Given the description of an element on the screen output the (x, y) to click on. 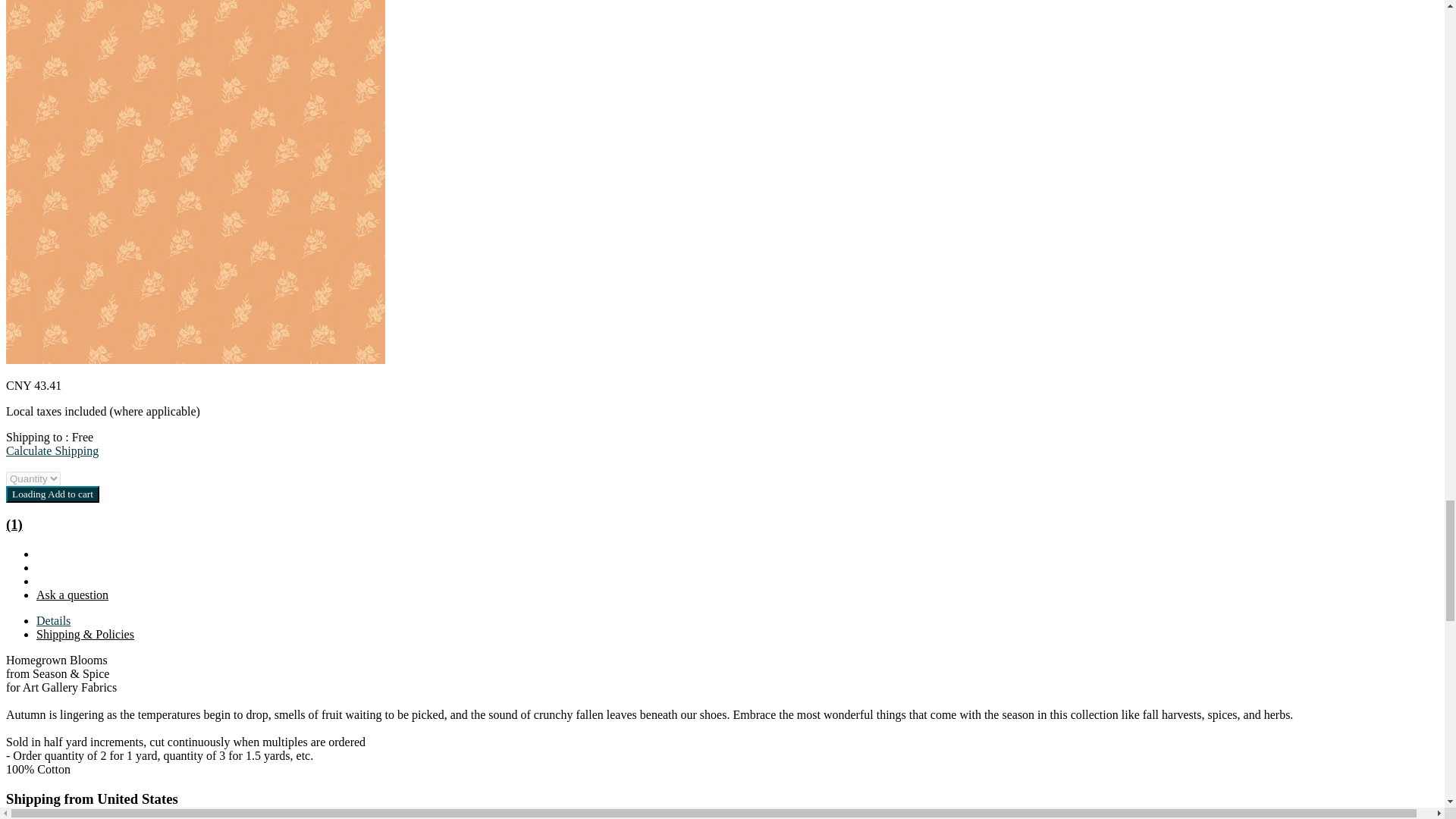
Ask a question (71, 594)
Loading Add to cart (52, 494)
Calculate Shipping (52, 450)
Details (52, 620)
